Given the description of an element on the screen output the (x, y) to click on. 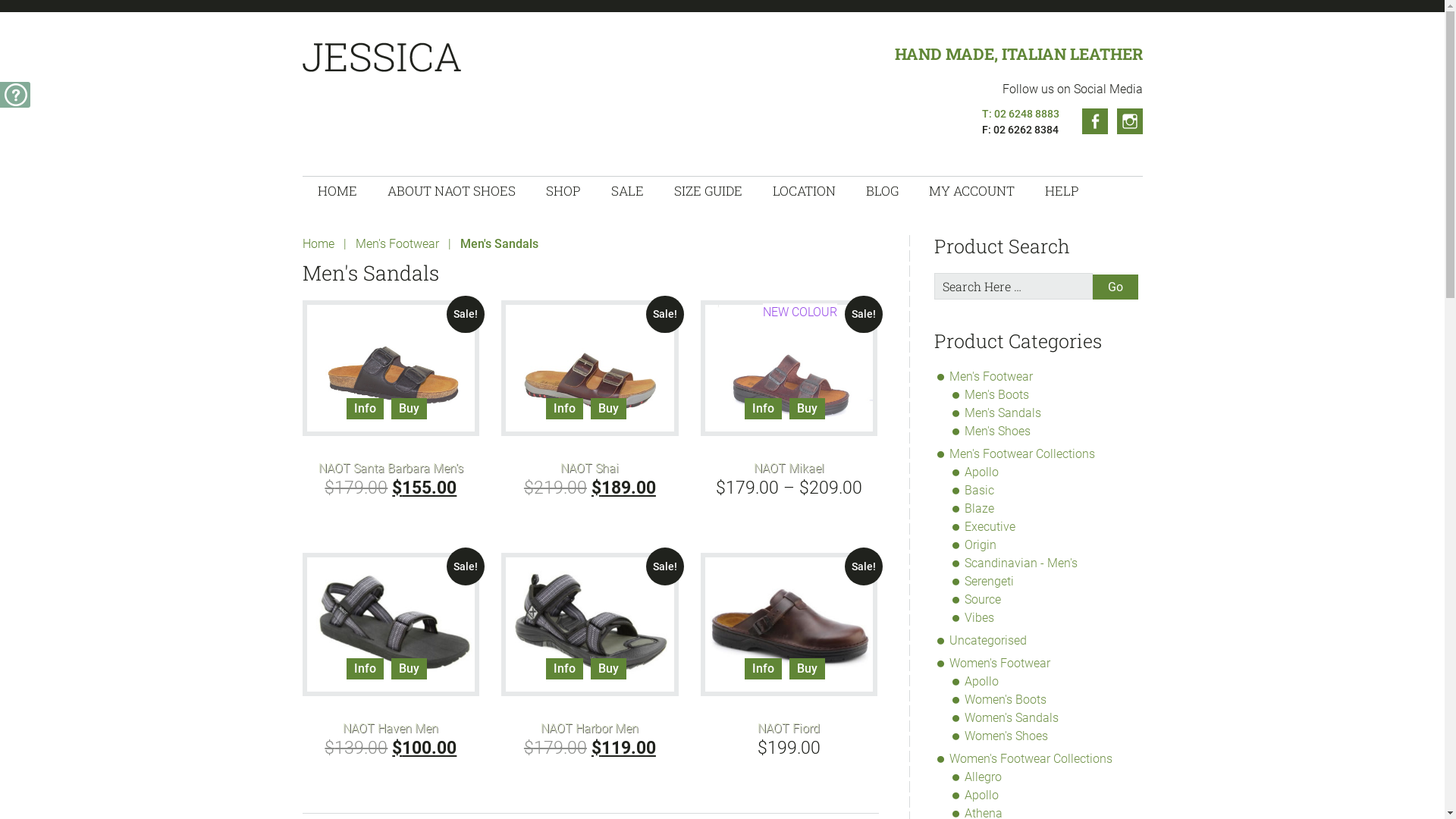
Sale! Element type: text (789, 624)
Info Element type: text (762, 408)
Origin Element type: text (980, 544)
Women's Shoes Element type: text (1006, 735)
Basic Element type: text (979, 490)
Instagram Element type: text (1129, 121)
Sale! Element type: text (589, 367)
Men's Boots Element type: text (996, 394)
Women's Sandals Element type: text (1011, 717)
HOME Element type: text (336, 190)
BLOG Element type: text (881, 190)
Blaze Element type: text (979, 508)
Men's Footwear Element type: text (396, 243)
Executive Element type: text (989, 526)
Men's Footwear Element type: text (990, 376)
Buy Element type: text (408, 408)
Serengeti Element type: text (988, 581)
Skip to primary navigation Element type: text (0, 0)
Buy Element type: text (408, 668)
Sale! Element type: text (589, 624)
Sale! Element type: text (390, 624)
Sale! Element type: text (390, 367)
Scandinavian - Men's Element type: text (1020, 562)
Men's Shoes Element type: text (997, 430)
Men's Sandals Element type: text (1002, 412)
Home Element type: text (317, 243)
Uncategorised Element type: text (987, 640)
Apollo Element type: text (981, 681)
Apollo Element type: text (981, 471)
Apollo Element type: text (981, 794)
Vibes Element type: text (979, 617)
Info Element type: text (762, 668)
T: 02 6248 8883 Element type: text (1019, 113)
Allegro Element type: text (982, 776)
Source Element type: text (982, 599)
SIZE GUIDE Element type: text (707, 190)
Women's Boots Element type: text (1005, 699)
Facebook Element type: text (1094, 121)
Buy Element type: text (807, 668)
ABOUT NAOT SHOES Element type: text (450, 190)
Men's Footwear Collections Element type: text (1022, 453)
Info Element type: text (364, 408)
Info Element type: text (564, 668)
Buy Element type: text (807, 408)
SHOP Element type: text (563, 190)
Buy Element type: text (608, 668)
HELP Element type: text (1061, 190)
Info Element type: text (364, 668)
Buy Element type: text (608, 408)
Go Element type: text (1114, 286)
MY ACCOUNT Element type: text (971, 190)
Sale! Element type: text (789, 367)
SALE Element type: text (627, 190)
Women's Footwear Element type: text (999, 662)
LOCATION Element type: text (803, 190)
Women's Footwear Collections Element type: text (1030, 758)
Info Element type: text (564, 408)
